Given the description of an element on the screen output the (x, y) to click on. 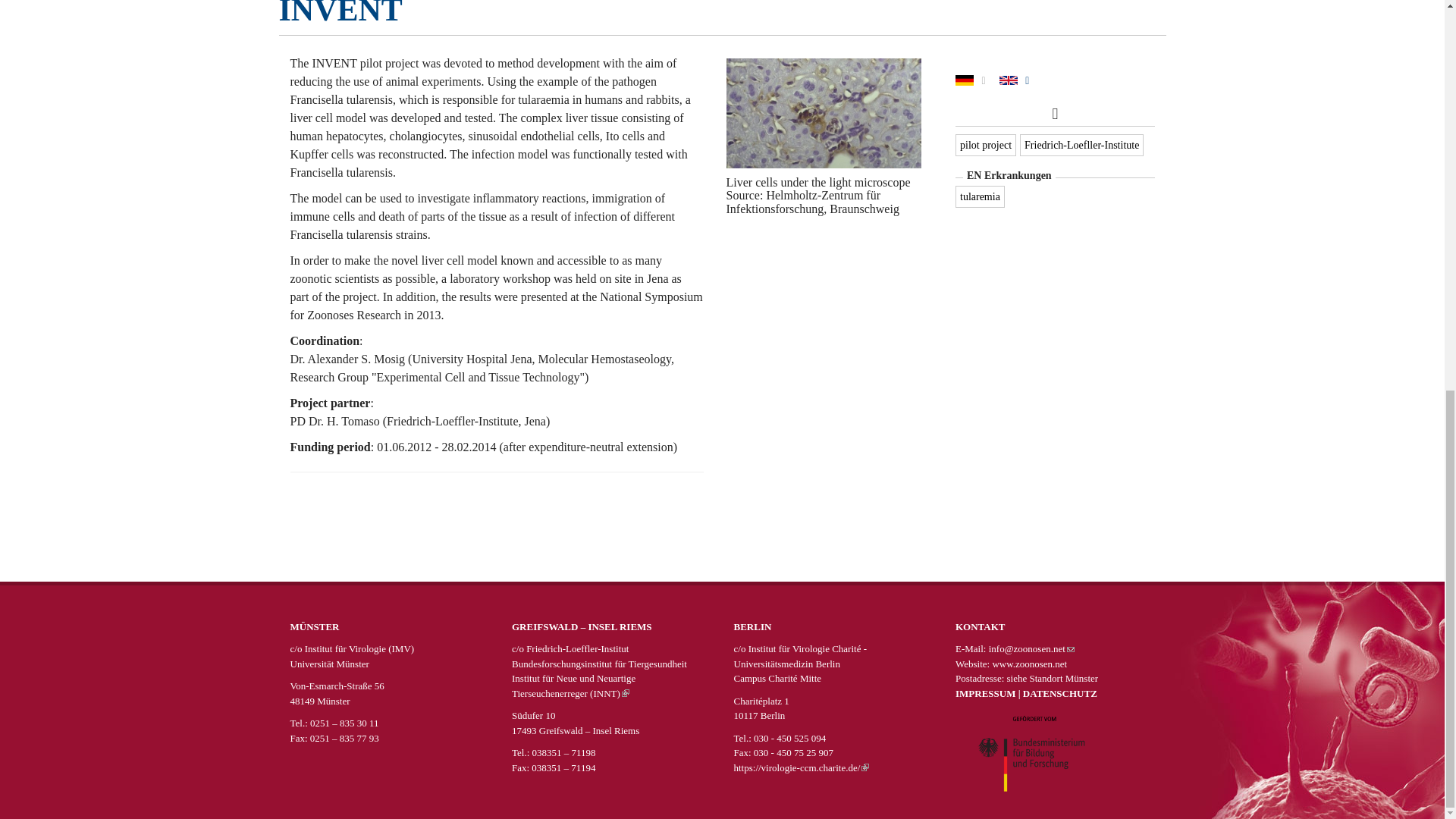
German (964, 80)
English (1007, 80)
